Given the description of an element on the screen output the (x, y) to click on. 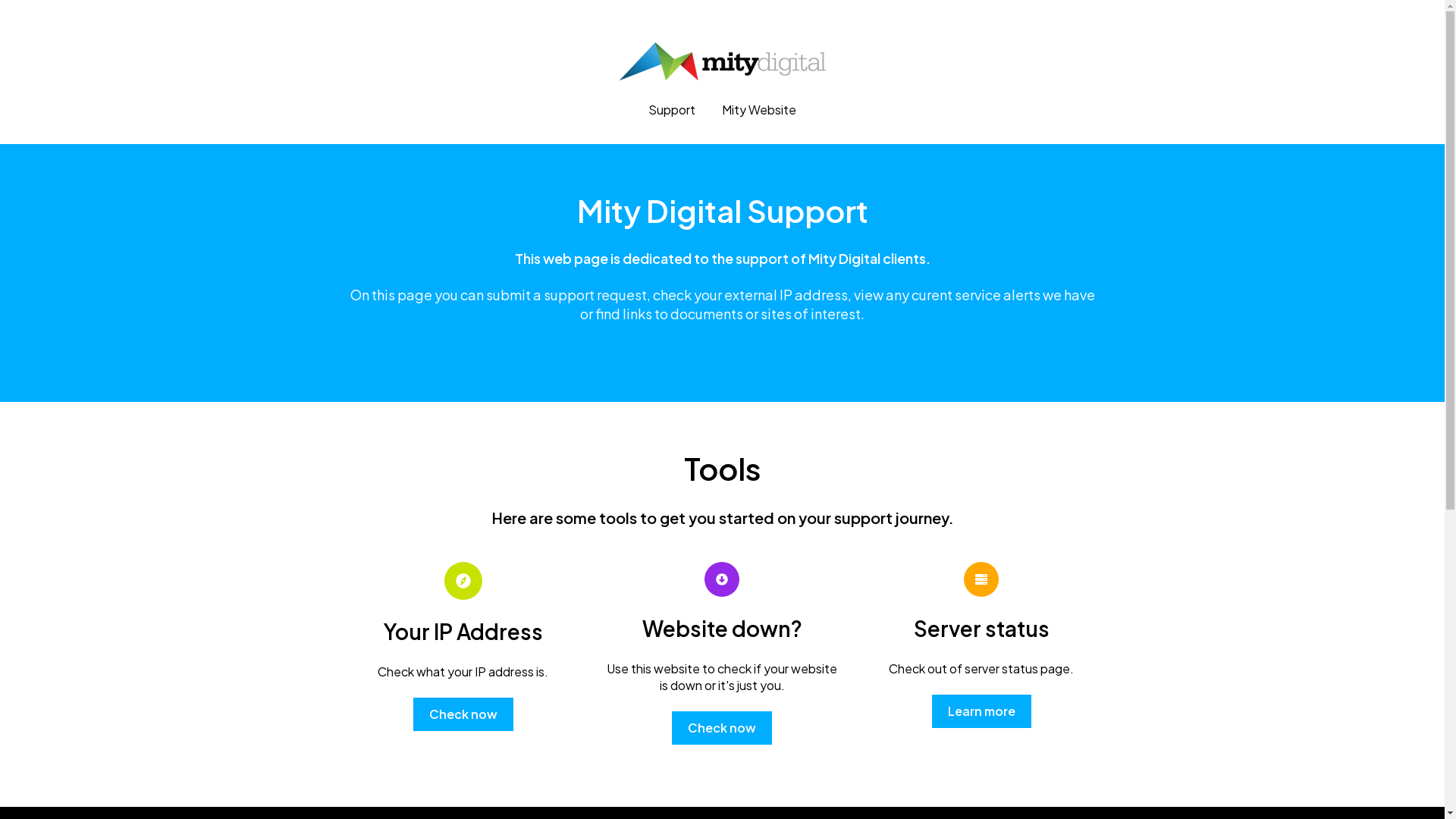
Support Element type: text (671, 109)
Check now Element type: text (463, 714)
Learn more Element type: text (981, 711)
Check now Element type: text (721, 727)
Mity Website Element type: text (758, 109)
